Given the description of an element on the screen output the (x, y) to click on. 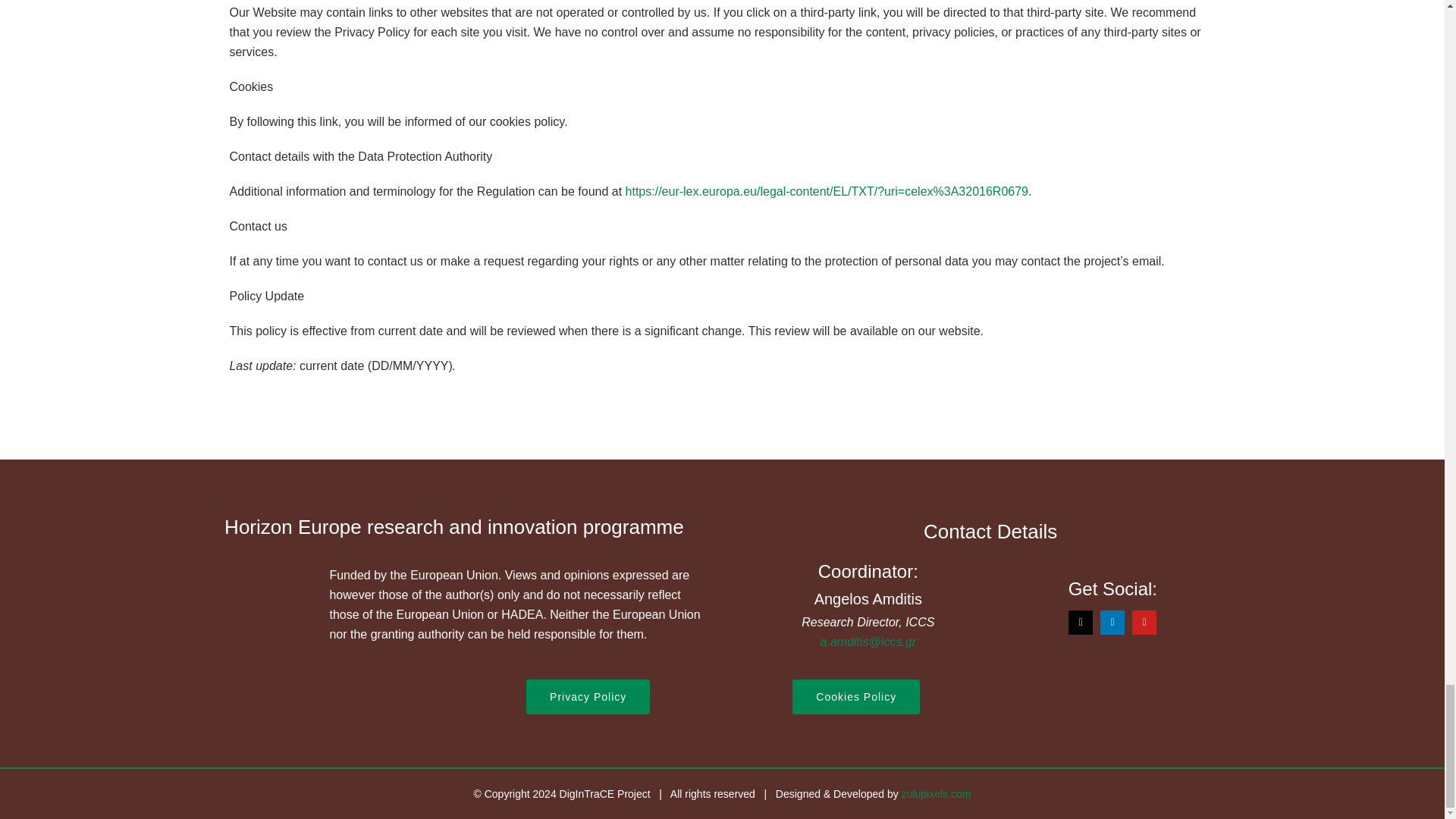
LinkedIn (1112, 622)
YouTube (1144, 622)
X (1080, 622)
